Given the description of an element on the screen output the (x, y) to click on. 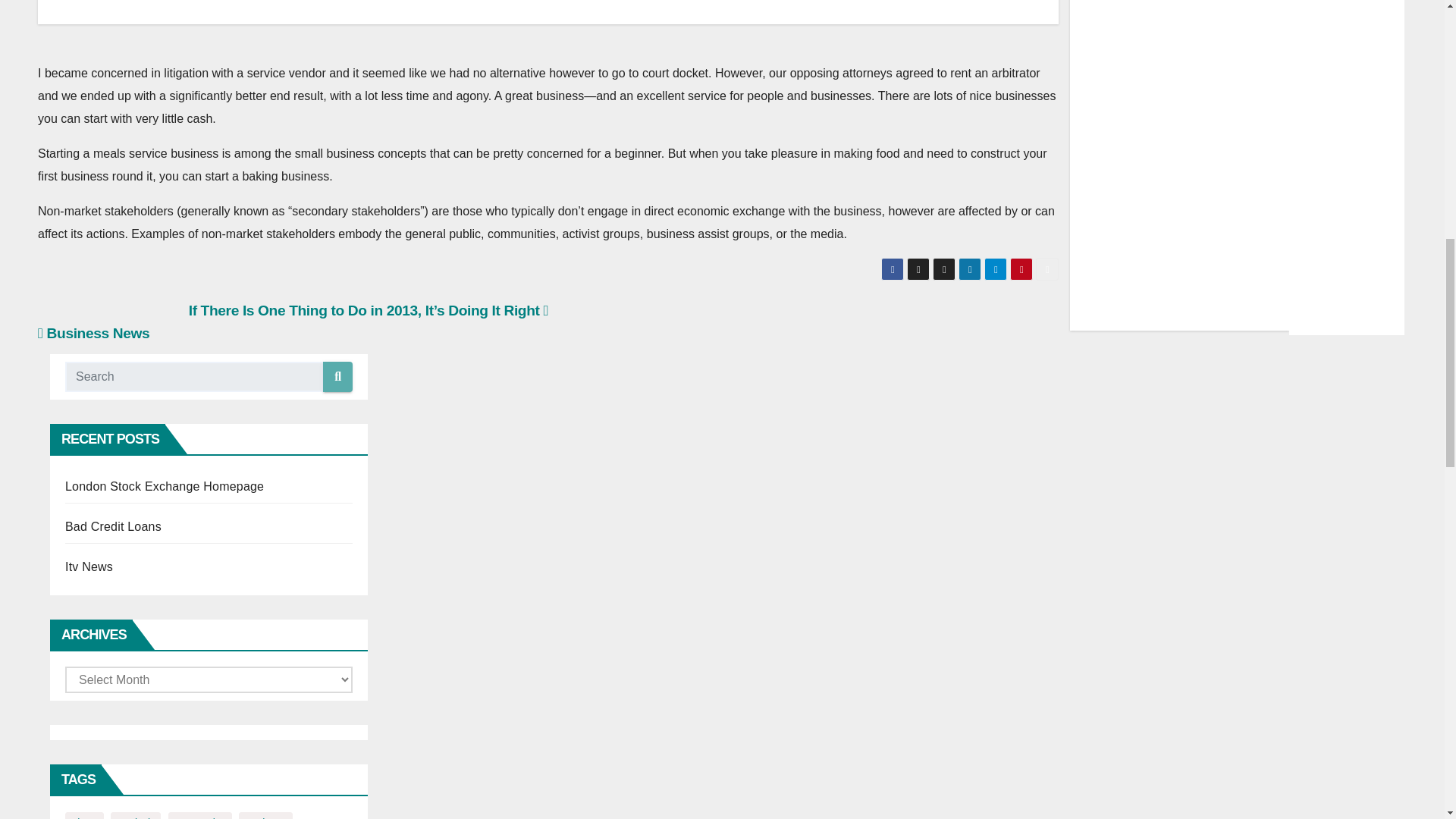
Business News (93, 333)
